Given the description of an element on the screen output the (x, y) to click on. 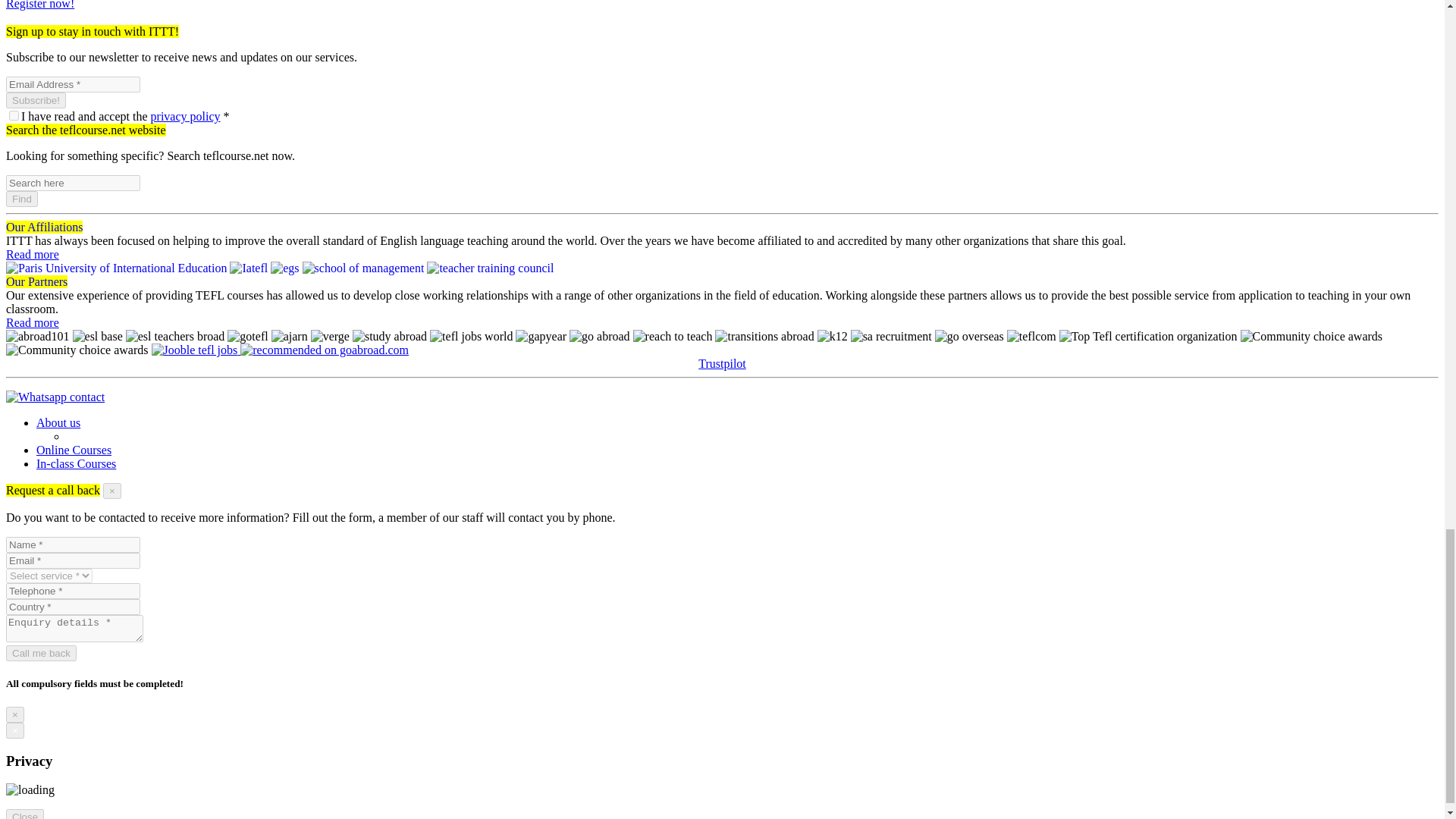
Paris University of International Education (116, 268)
1 (13, 115)
egs (284, 268)
school of management (363, 268)
teacher training council (489, 268)
Iatefl (248, 268)
